Given the description of an element on the screen output the (x, y) to click on. 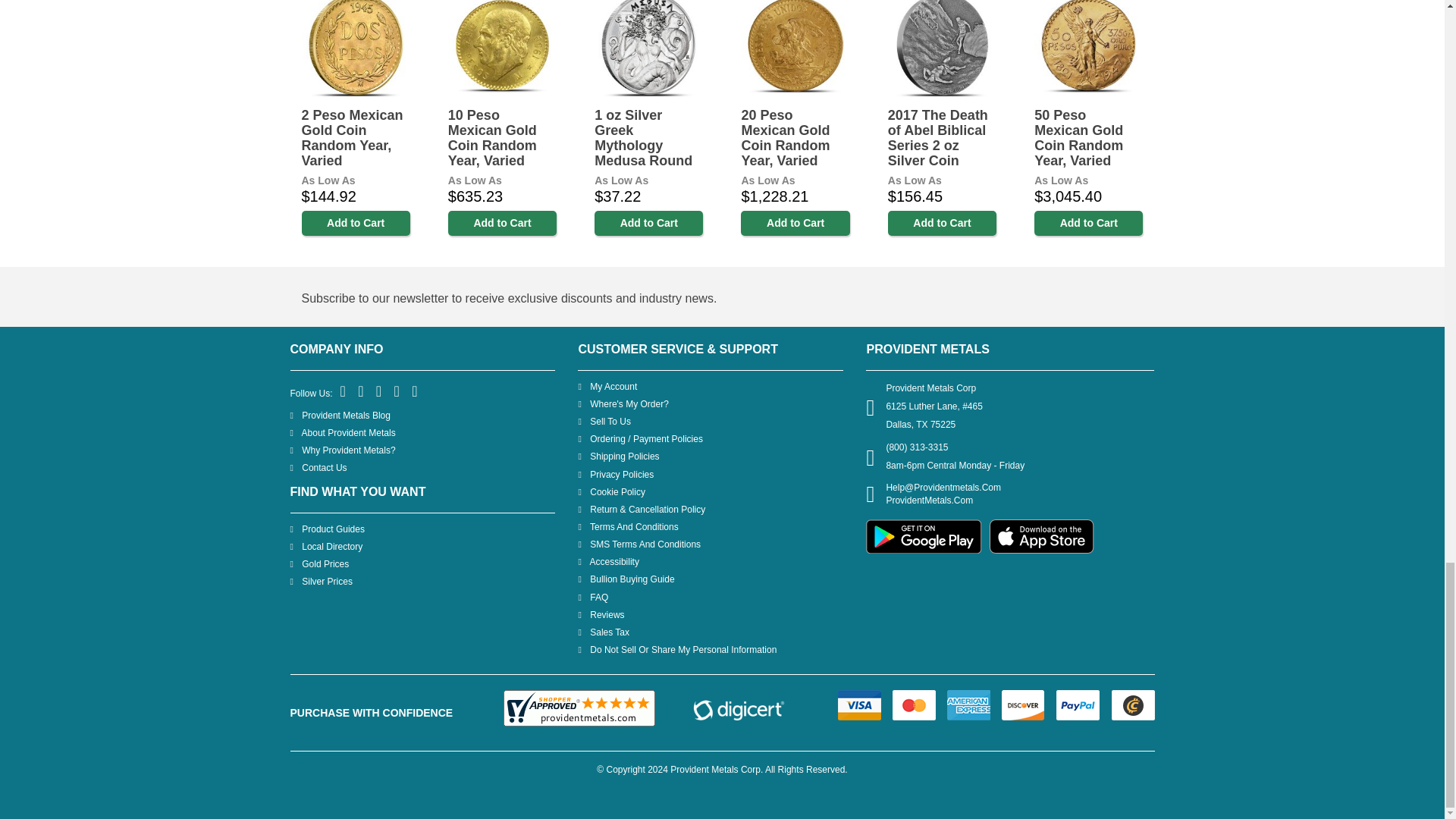
Twitter (361, 391)
Pinterest (379, 391)
Facebook (344, 391)
